Given the description of an element on the screen output the (x, y) to click on. 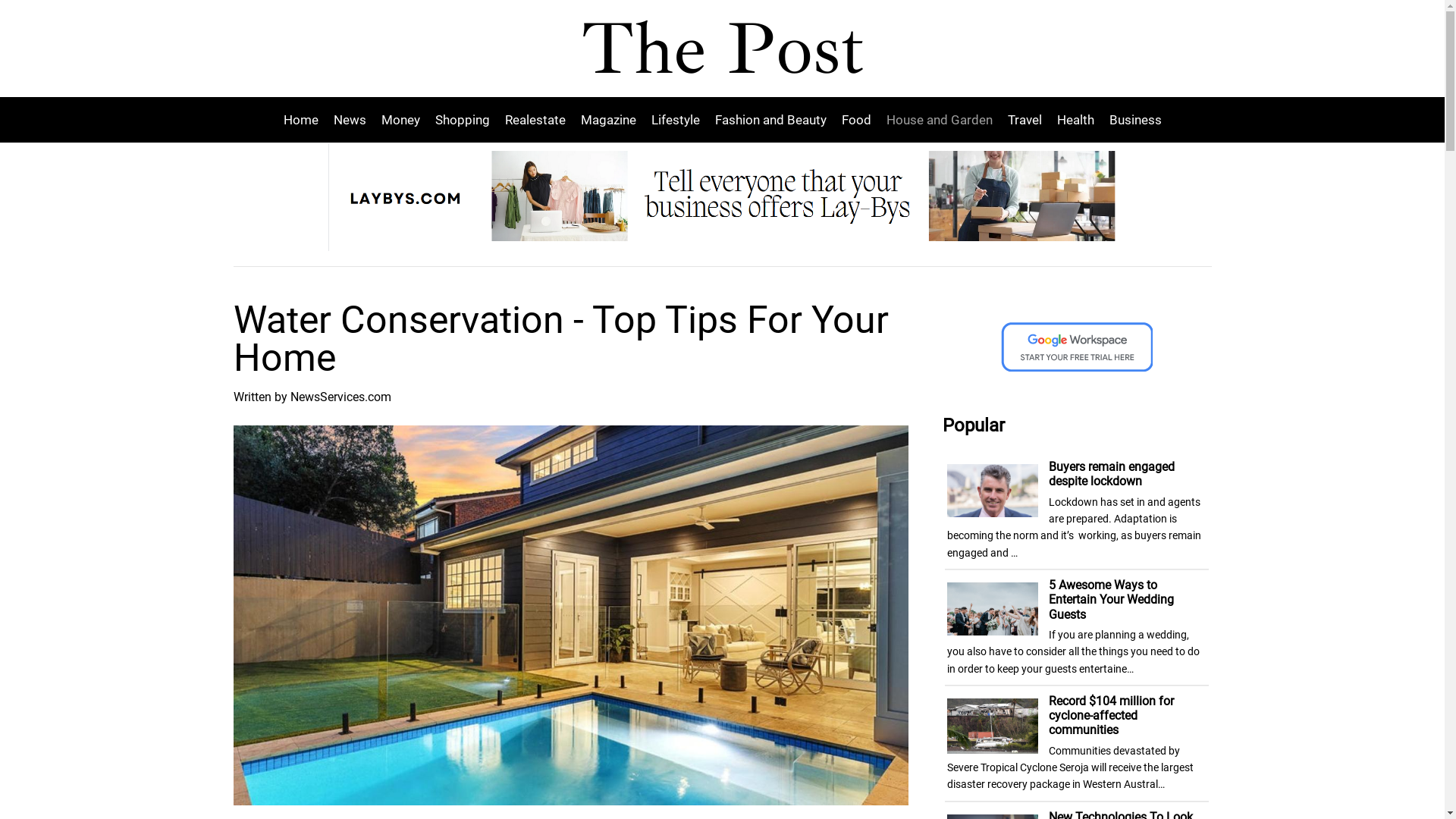
Business Element type: text (1131, 119)
Travel Element type: text (1023, 119)
Health Element type: text (1075, 119)
Shopping Element type: text (462, 119)
House and Garden Element type: text (938, 119)
Record $104 million for cyclone-affected communities Element type: text (1110, 715)
5 Awesome Ways to Entertain Your Wedding Guests Element type: text (1110, 599)
Money Element type: text (399, 119)
Lifestyle Element type: text (674, 119)
Home Element type: text (304, 119)
Magazine Element type: text (608, 119)
Realestate Element type: text (535, 119)
Fashion and Beauty Element type: text (769, 119)
Buyers remain engaged despite lockdown Element type: text (1111, 473)
News Element type: text (349, 119)
Food Element type: text (856, 119)
